Given the description of an element on the screen output the (x, y) to click on. 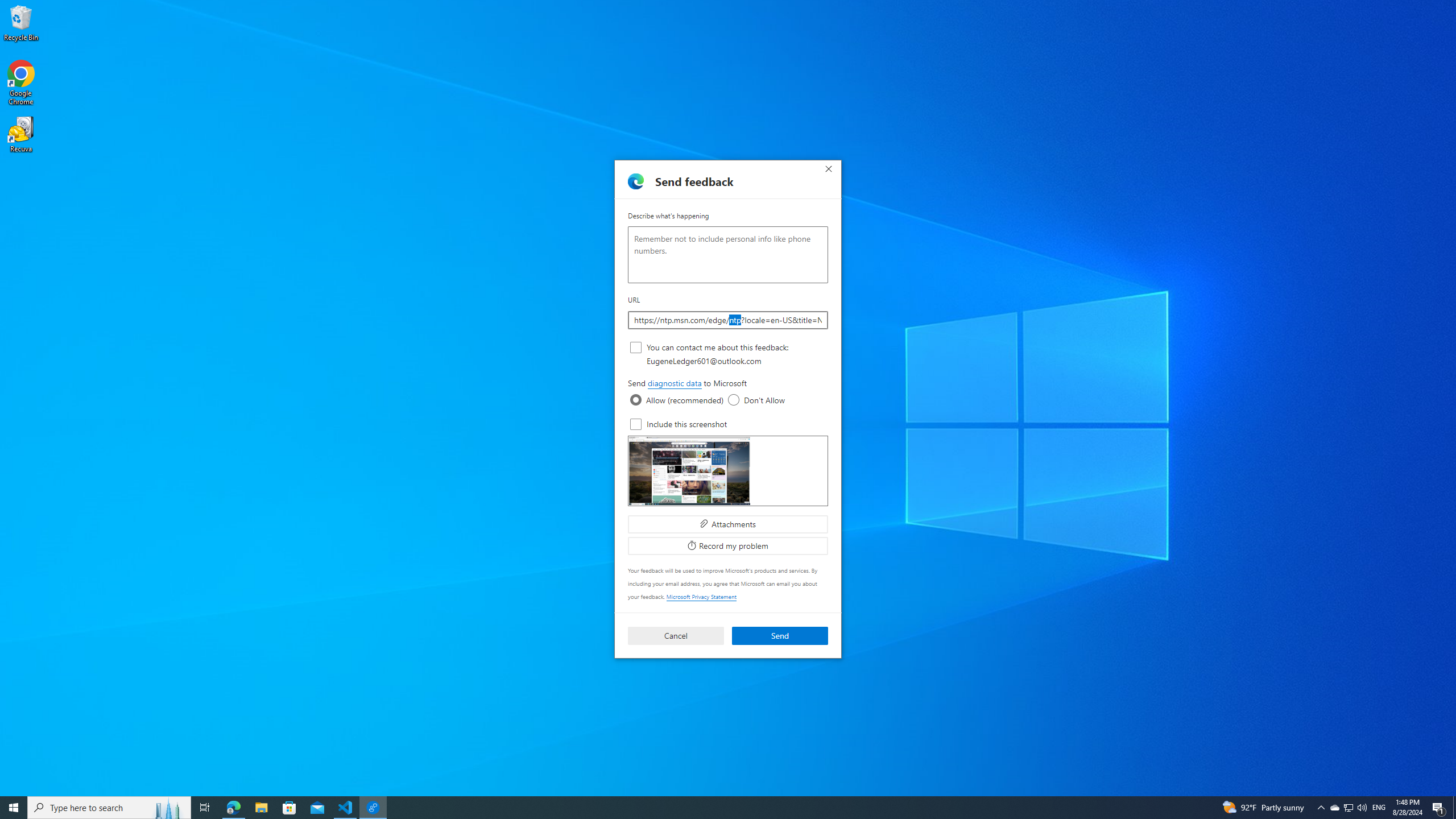
Include this screenshot (636, 423)
Tray Input Indicator - English (United States) (1378, 807)
File Explorer (261, 807)
Q2790: 100% (1361, 807)
Running applications (1347, 807)
Record my problem (706, 807)
Search highlights icon opens search home window (727, 545)
Don't Allow (167, 807)
diagnostic data (733, 399)
User Promoted Notification Area (674, 383)
Send (1347, 807)
Edge Feedback - 1 running window (780, 635)
